Given the description of an element on the screen output the (x, y) to click on. 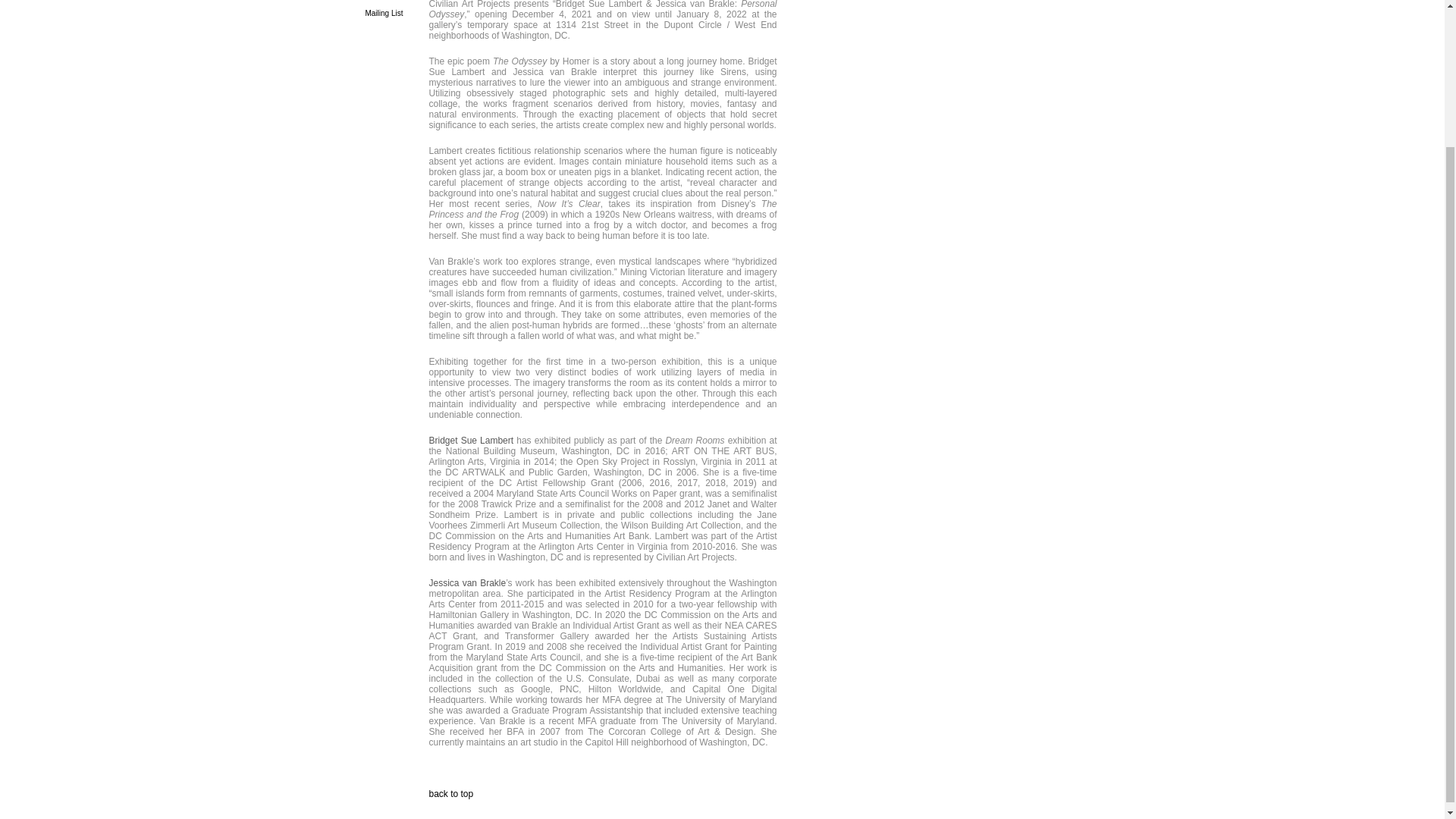
About (392, 0)
Mailing List (384, 13)
back to top (451, 793)
